Given the description of an element on the screen output the (x, y) to click on. 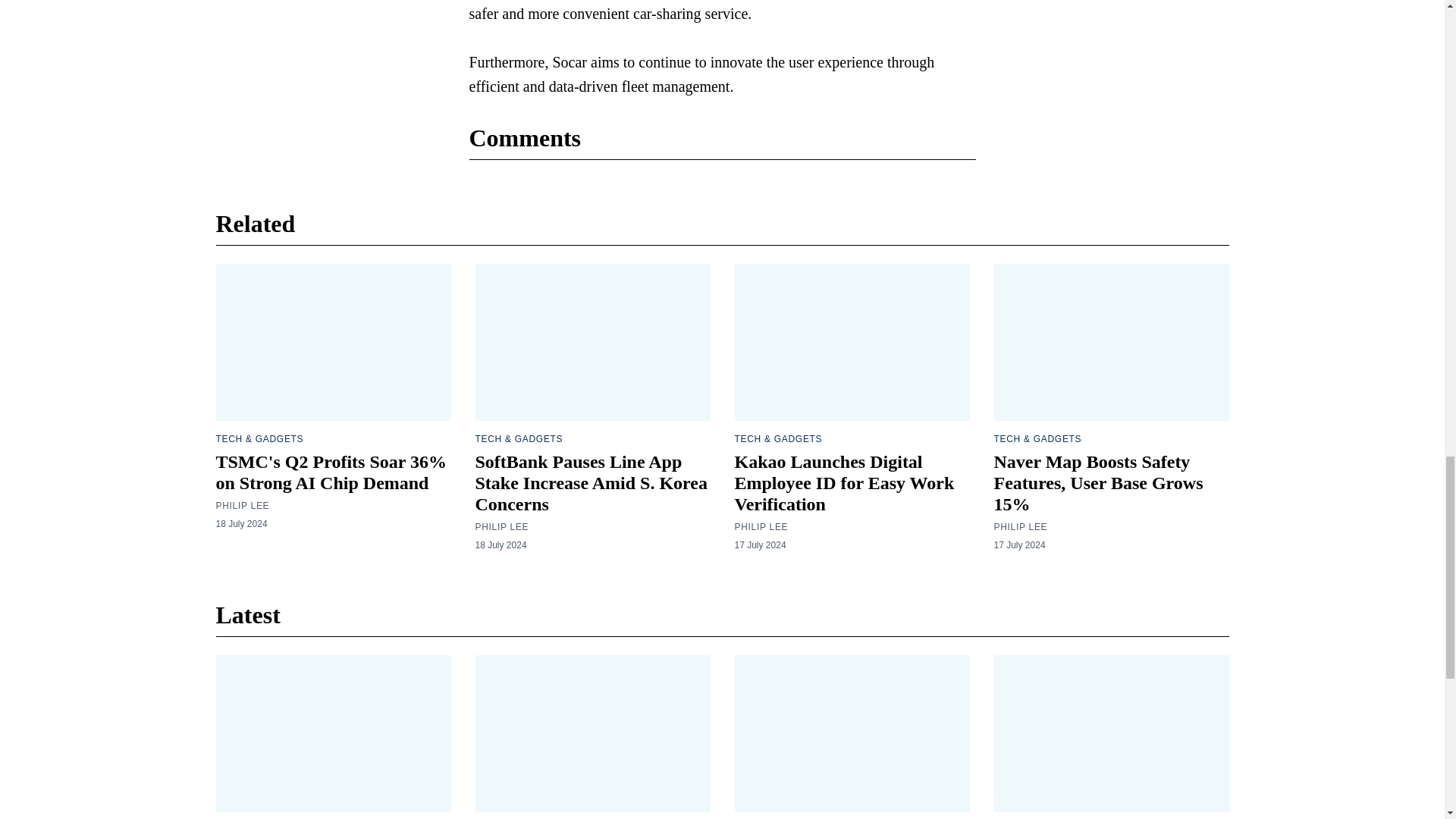
PHILIP LEE (760, 526)
PHILIP LEE (501, 526)
PHILIP LEE (1019, 526)
PHILIP LEE (242, 505)
